Given the description of an element on the screen output the (x, y) to click on. 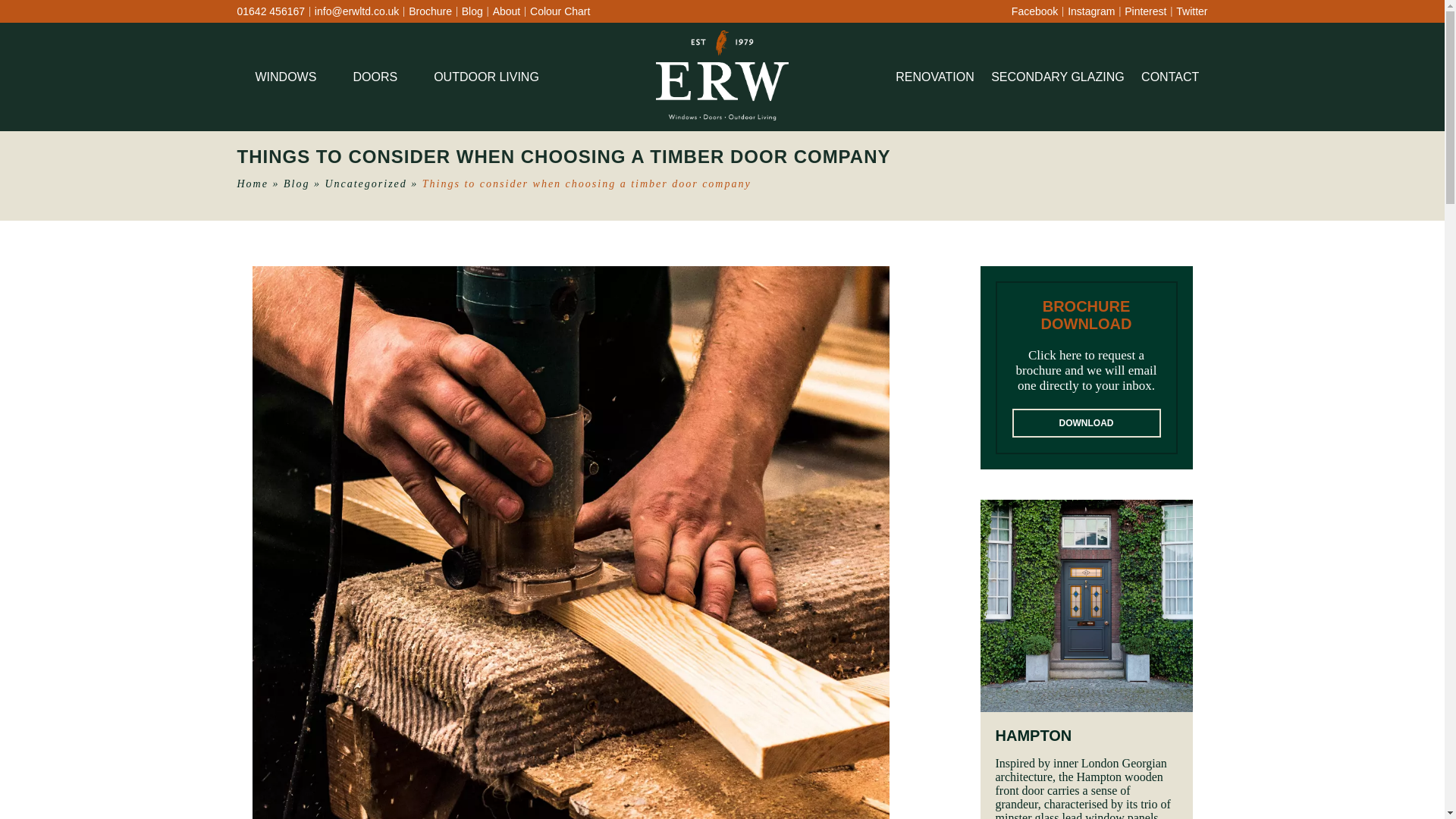
DOORS (374, 76)
DOWNLOAD (1085, 422)
Twitter (1191, 10)
OUTDOOR LIVING (485, 76)
Uncategorized (365, 183)
WINDOWS (286, 76)
Brochure (430, 10)
RENOVATION (934, 76)
Blog (295, 183)
Pinterest (1145, 10)
